Given the description of an element on the screen output the (x, y) to click on. 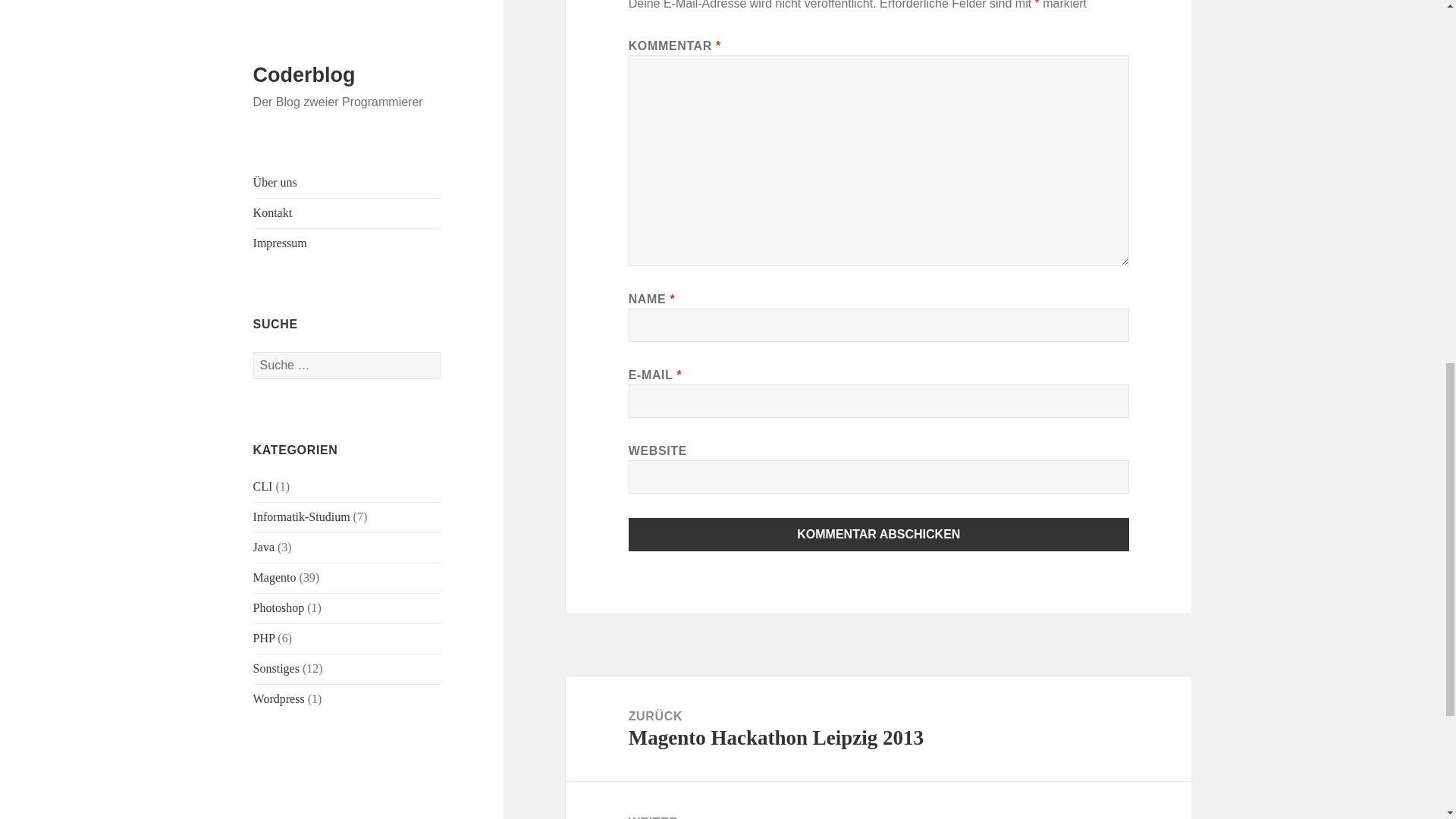
Kommentar abschicken (878, 534)
Kommentar abschicken (878, 534)
